Given the description of an element on the screen output the (x, y) to click on. 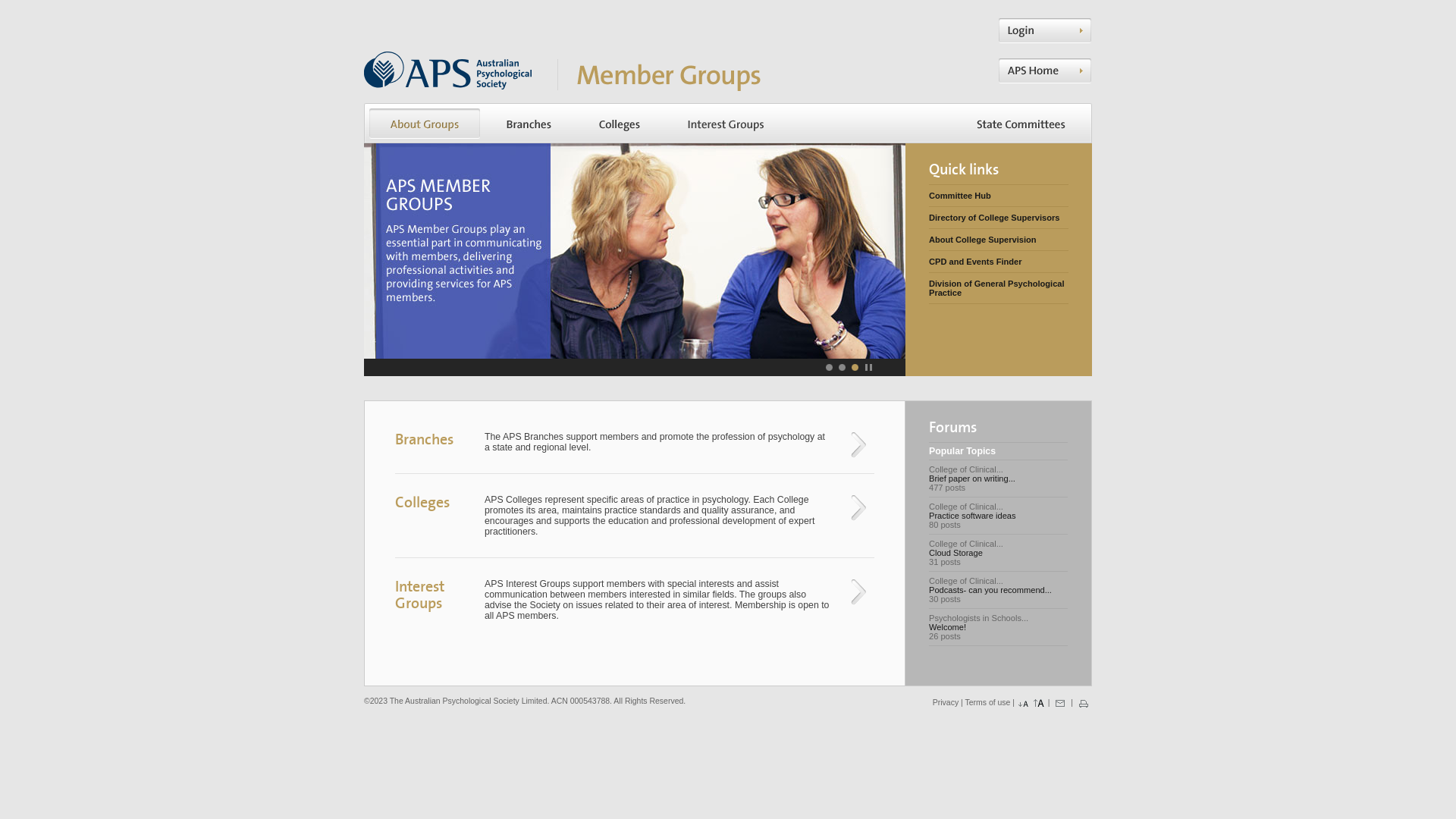
About College Supervision Element type: text (998, 239)
Print this page Element type: hover (1083, 702)
Decrease font size Element type: hover (1022, 702)
Committee Hub Element type: text (998, 195)
Psychologists in Schools...
Welcome!
26 posts Element type: text (997, 626)
College of Clinical...
Brief paper on writing...
477 posts Element type: text (997, 478)
Directory of College Supervisors Element type: text (998, 217)
Increase font size Element type: hover (1038, 702)
College of Clinical...
Cloud Storage
31 posts Element type: text (997, 552)
Privacy Element type: text (945, 702)
Division of General Psychological Practice Element type: text (998, 288)
Email this page to a friend Element type: hover (1059, 702)
Terms of use Element type: text (987, 702)
College of Clinical...
Practice software ideas
80 posts Element type: text (997, 515)
CPD and Events Finder Element type: text (998, 261)
